Given the description of an element on the screen output the (x, y) to click on. 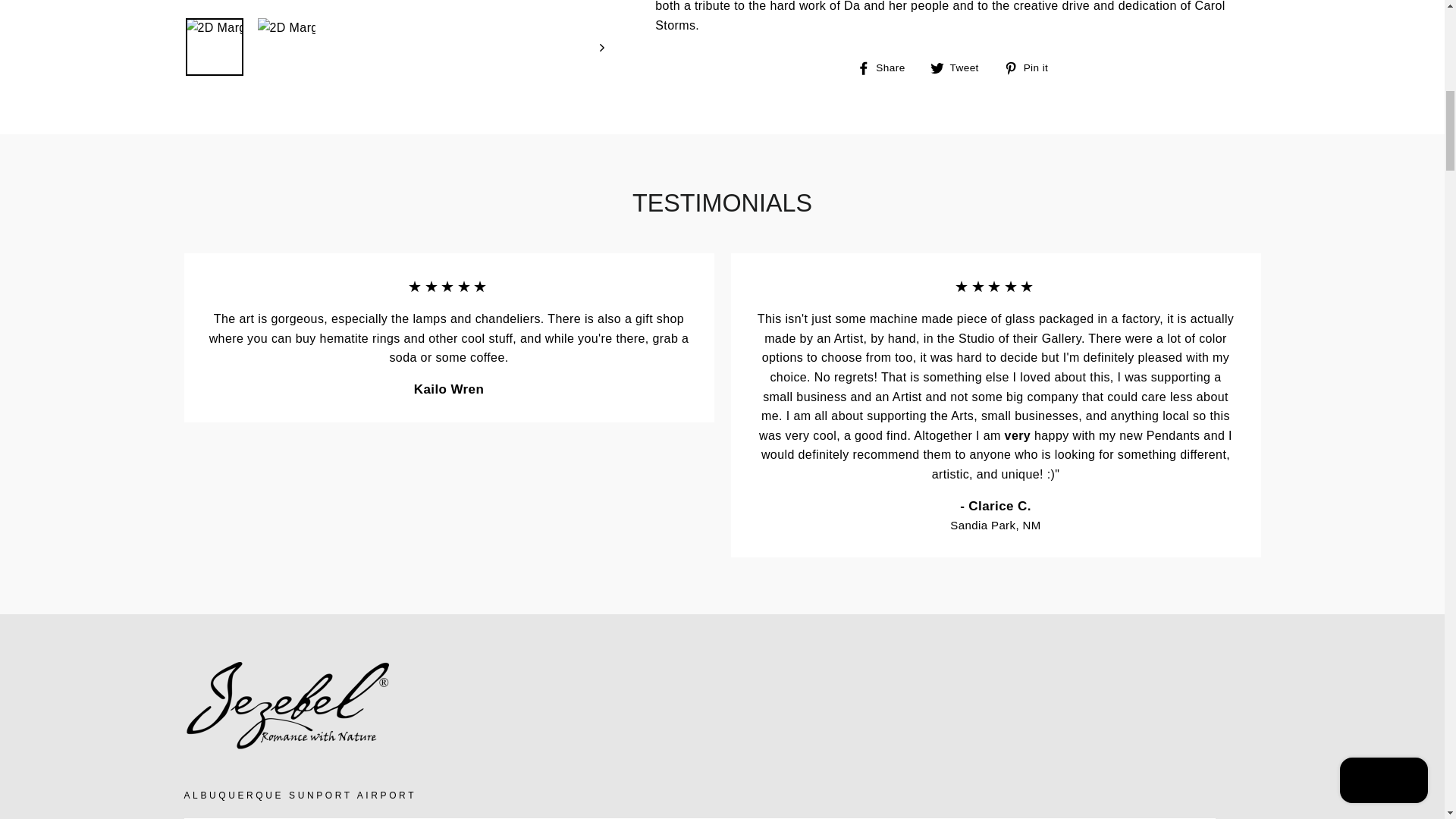
Tweet on Twitter (960, 67)
Share on Facebook (887, 67)
Pin on Pinterest (1031, 67)
